Given the description of an element on the screen output the (x, y) to click on. 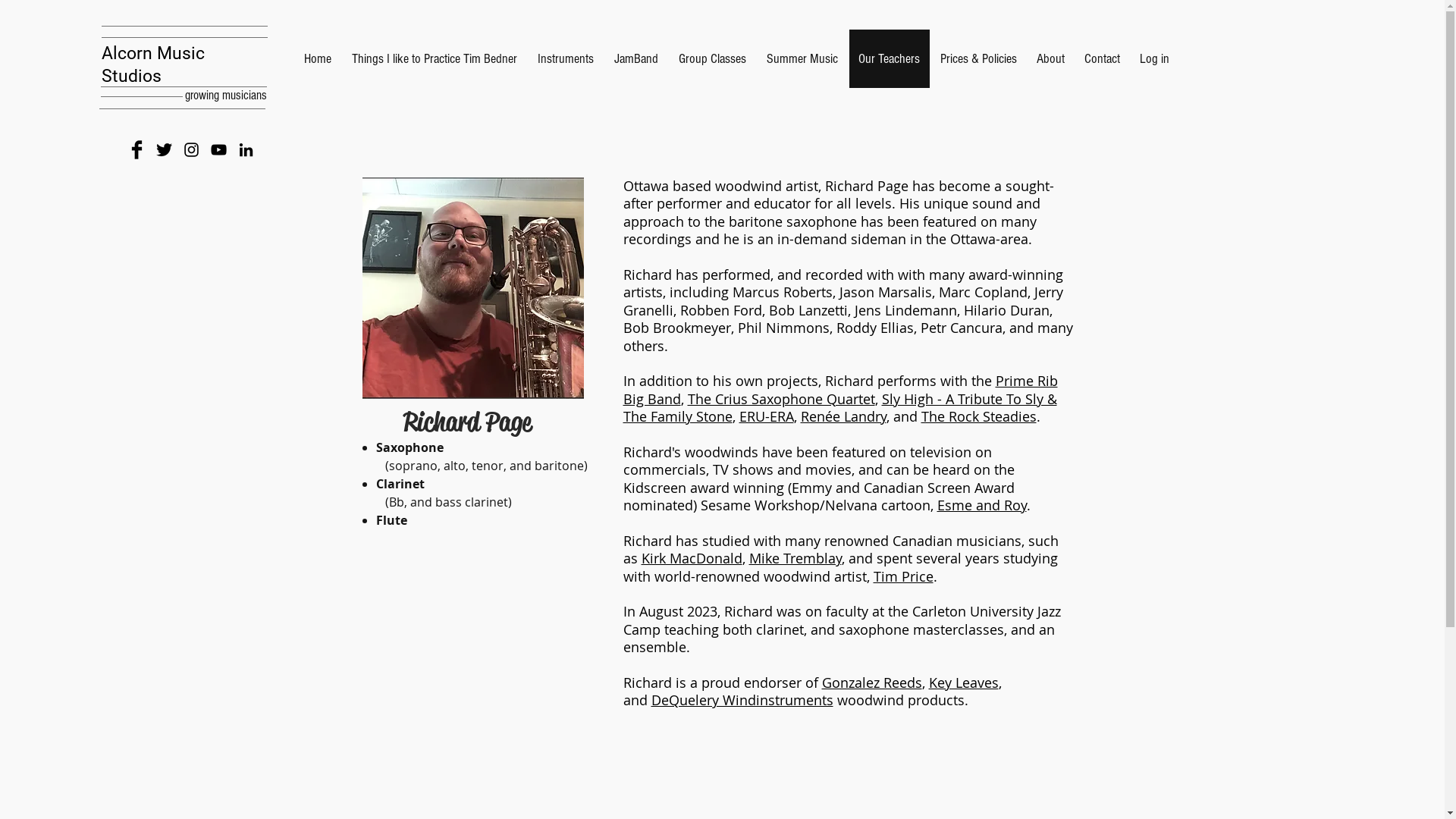
Things I like to Practice Tim Bedner Element type: text (434, 58)
Log in Element type: text (1153, 58)
Esme and Roy Element type: text (981, 504)
Mike Tremblay Element type: text (795, 558)
The Rock Steadies Element type: text (977, 416)
Home Element type: text (317, 58)
Tim Price Element type: text (903, 576)
Key Leaves Element type: text (962, 682)
Contact Element type: text (1101, 58)
Kirk MacDonald Element type: text (691, 558)
About Element type: text (1050, 58)
DeQuelery Windinstruments Element type: text (741, 699)
Group Classes Element type: text (712, 58)
Alcorn Music Studios Element type: text (152, 64)
JamBand Element type: text (635, 58)
Instruments Element type: text (565, 58)
Sly High - A Tribute To Sly & The Family Stone Element type: text (840, 407)
Summer Music Element type: text (802, 58)
ERU-ERA Element type: text (765, 416)
Our Teachers Element type: text (888, 58)
Prices & Policies Element type: text (977, 58)
The Crius Saxophone Quartet Element type: text (780, 398)
Gonzalez Reeds Element type: text (872, 682)
Prime Rib Big Band Element type: text (840, 389)
